Given the description of an element on the screen output the (x, y) to click on. 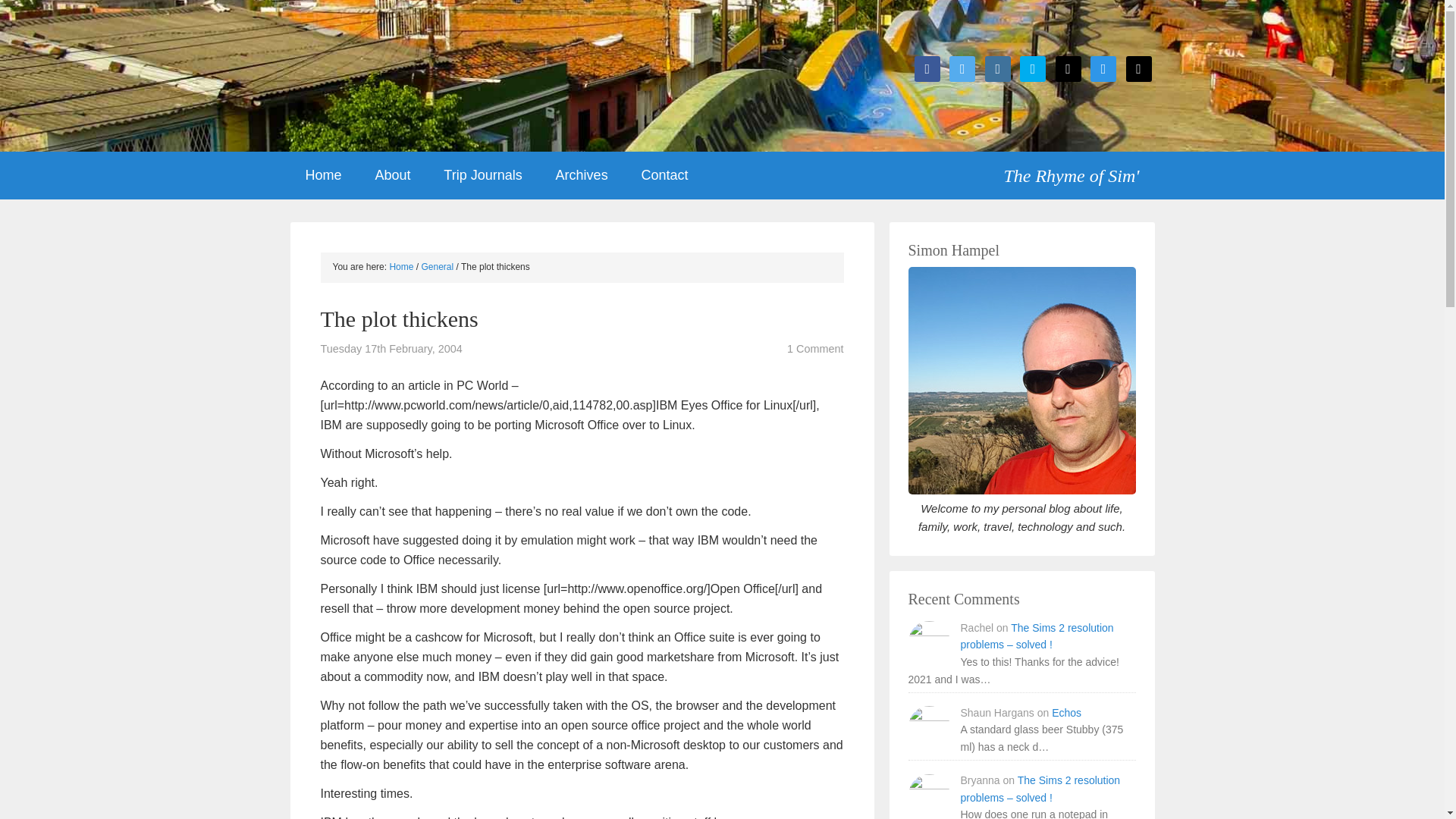
Echos (1066, 712)
Blog and Twitter Archives (581, 175)
Home (322, 175)
twitter (962, 67)
Trip Journals (482, 175)
Instagram (997, 67)
github (1068, 67)
General (438, 266)
Contact (664, 175)
Friend me on Facebook (927, 67)
